Given the description of an element on the screen output the (x, y) to click on. 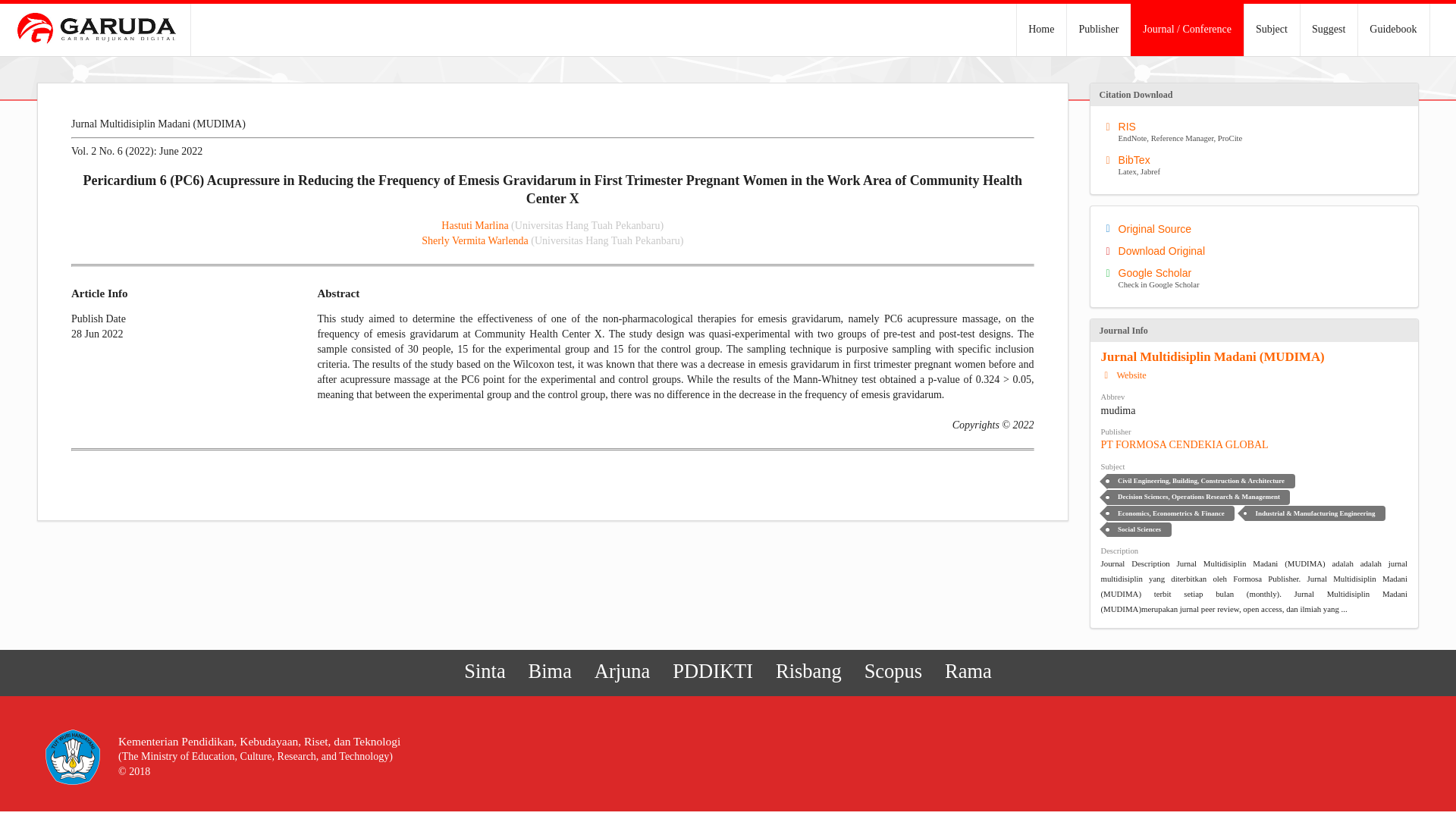
Social Sciences (1138, 529)
Akreditasi Jurnal Nasional (623, 671)
Hastuti Marlina (1257, 165)
Pangkalan Data Pendidikan Tinggi Ristekdikti (474, 225)
Publisher (712, 671)
Subject (1098, 30)
Home (1271, 30)
Scopus (1040, 30)
PDDIKTI (892, 671)
Download Original (712, 671)
Original Source (1257, 278)
Sherly Vermita Warlenda (1257, 250)
